Given the description of an element on the screen output the (x, y) to click on. 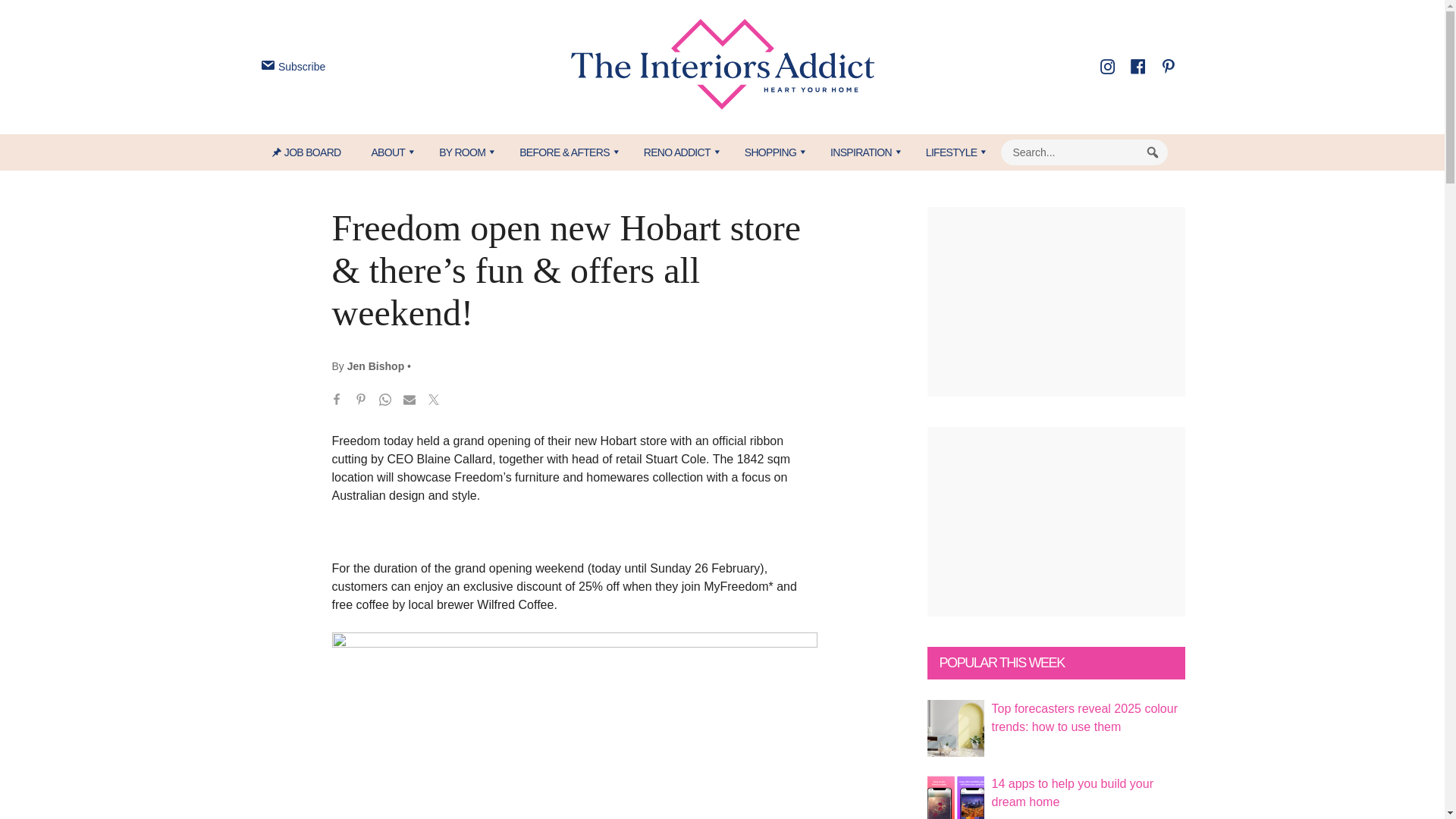
Share on Twitter (433, 401)
Share on Facebook (336, 401)
Subscribe (291, 66)
Share on Pinterest (360, 401)
YES PLEASE! (793, 294)
Search (1152, 151)
ABOUT (389, 152)
JOB BOARD (313, 152)
BY ROOM (463, 152)
Share via Email (409, 401)
